Given the description of an element on the screen output the (x, y) to click on. 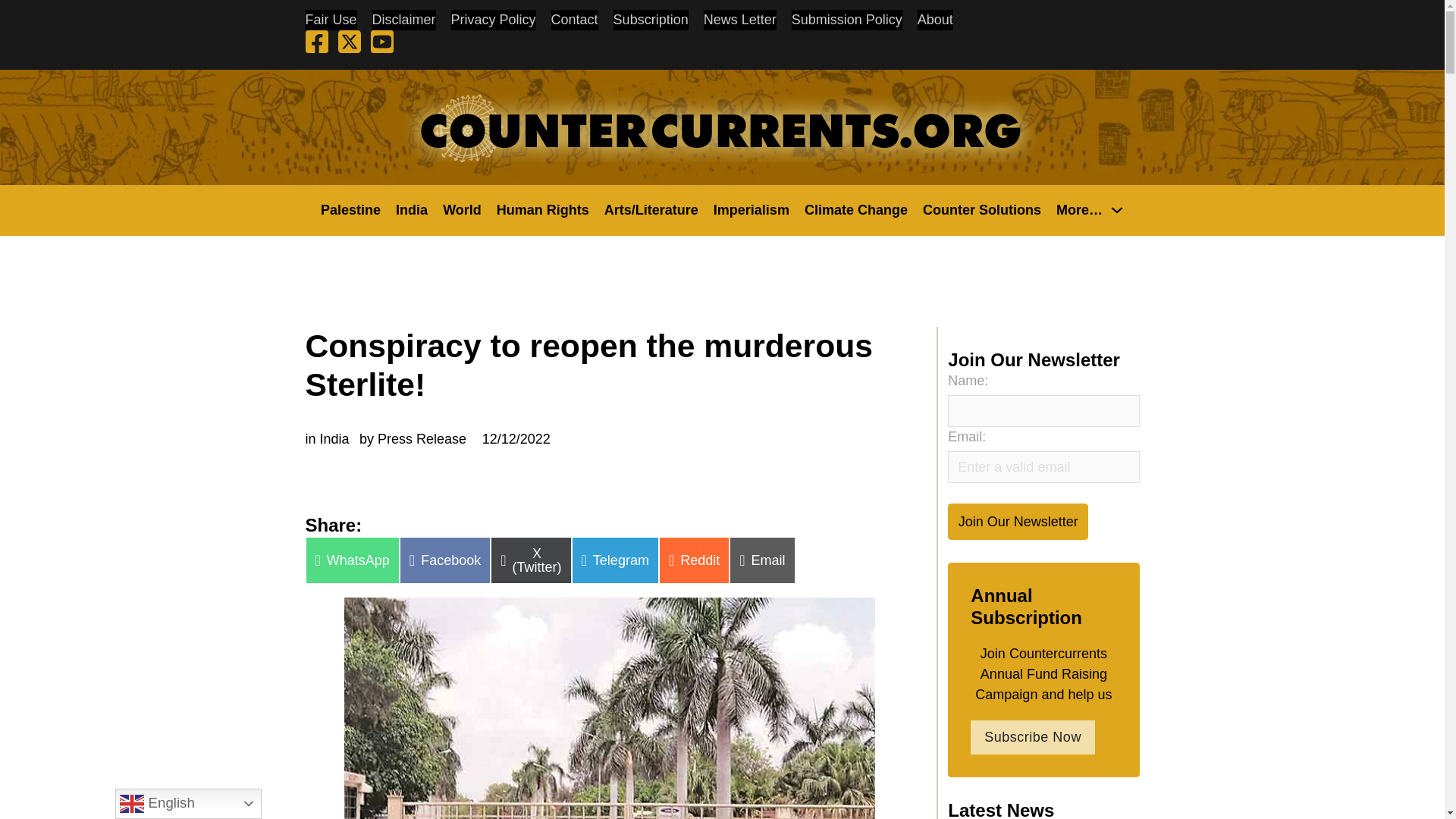
Human Rights (542, 209)
Contact (574, 19)
Join Our Newsletter (1017, 520)
Counter Solutions (982, 209)
World (461, 209)
Disclaimer (403, 19)
India (412, 209)
News Letter (739, 19)
Imperialism (751, 209)
Submission Policy (847, 19)
